Given the description of an element on the screen output the (x, y) to click on. 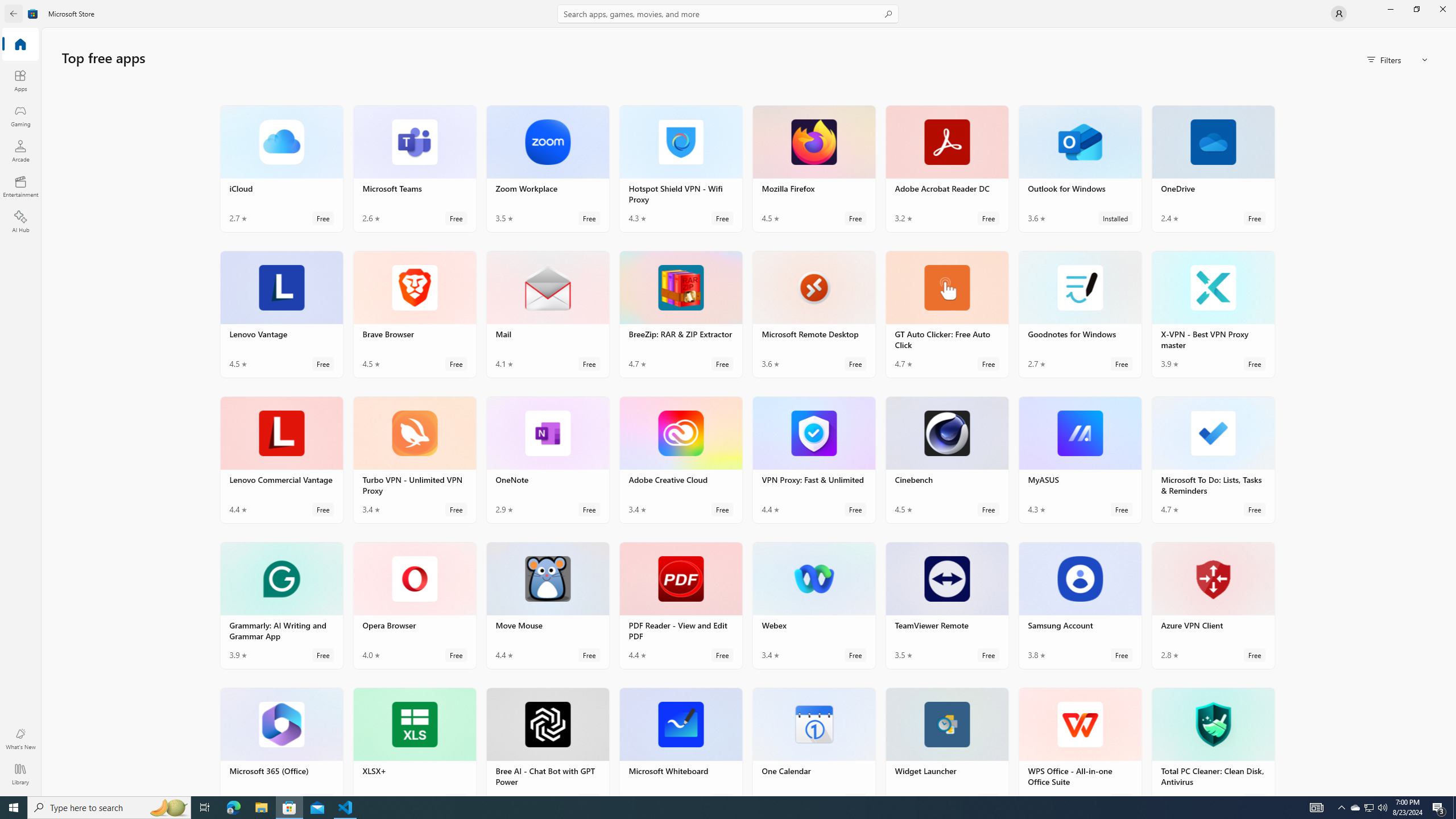
AutomationID: NavigationControl (728, 398)
Search (727, 13)
